Given the description of an element on the screen output the (x, y) to click on. 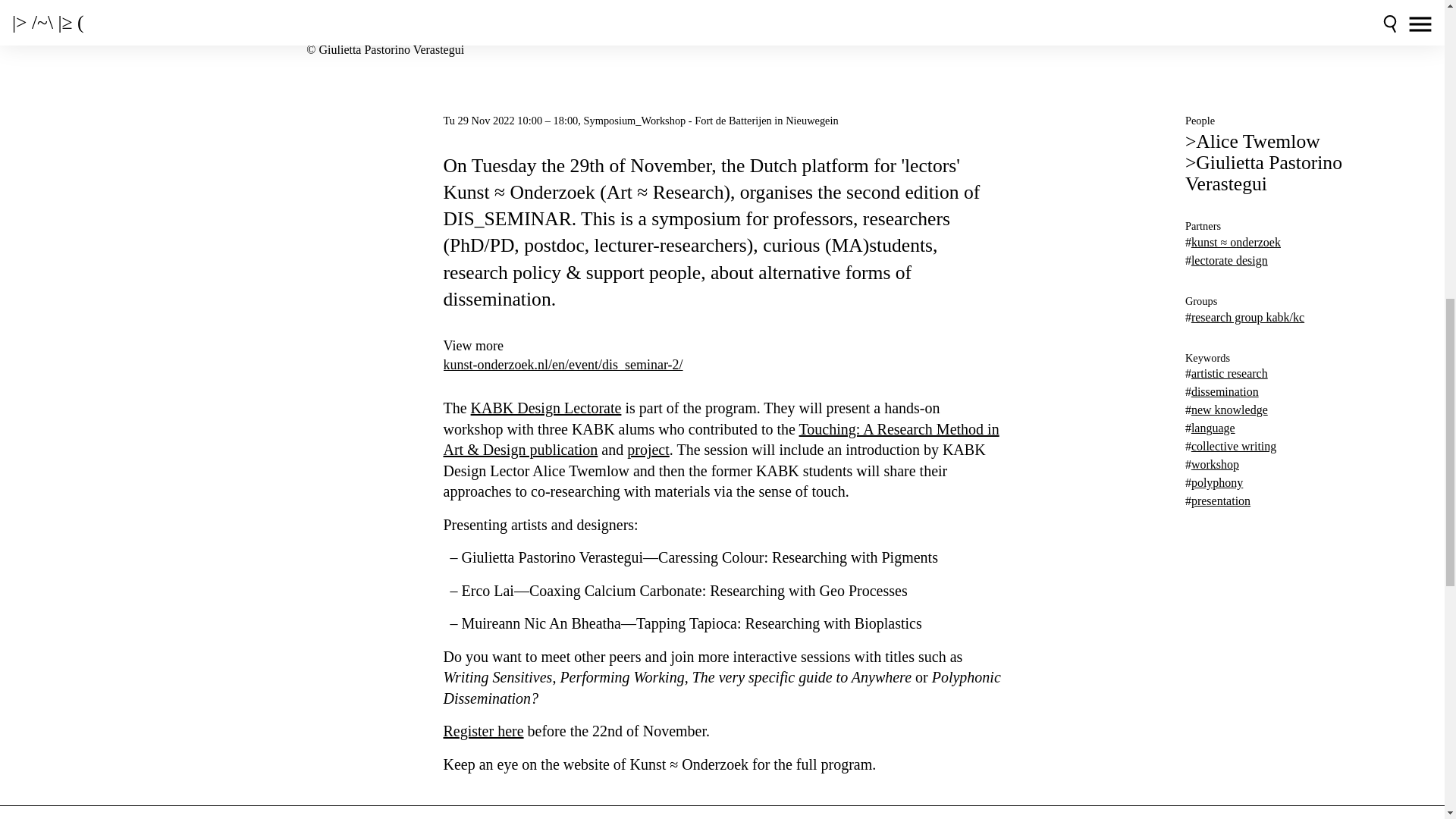
new knowledge (1229, 409)
language (1212, 427)
workshop (1215, 463)
collective writing (1233, 445)
dissemination (1225, 391)
polyphony (1217, 481)
presentation (1220, 500)
artistic research (1229, 373)
Register here (482, 730)
Giulietta Pastorino Verastegui (1263, 172)
